Given the description of an element on the screen output the (x, y) to click on. 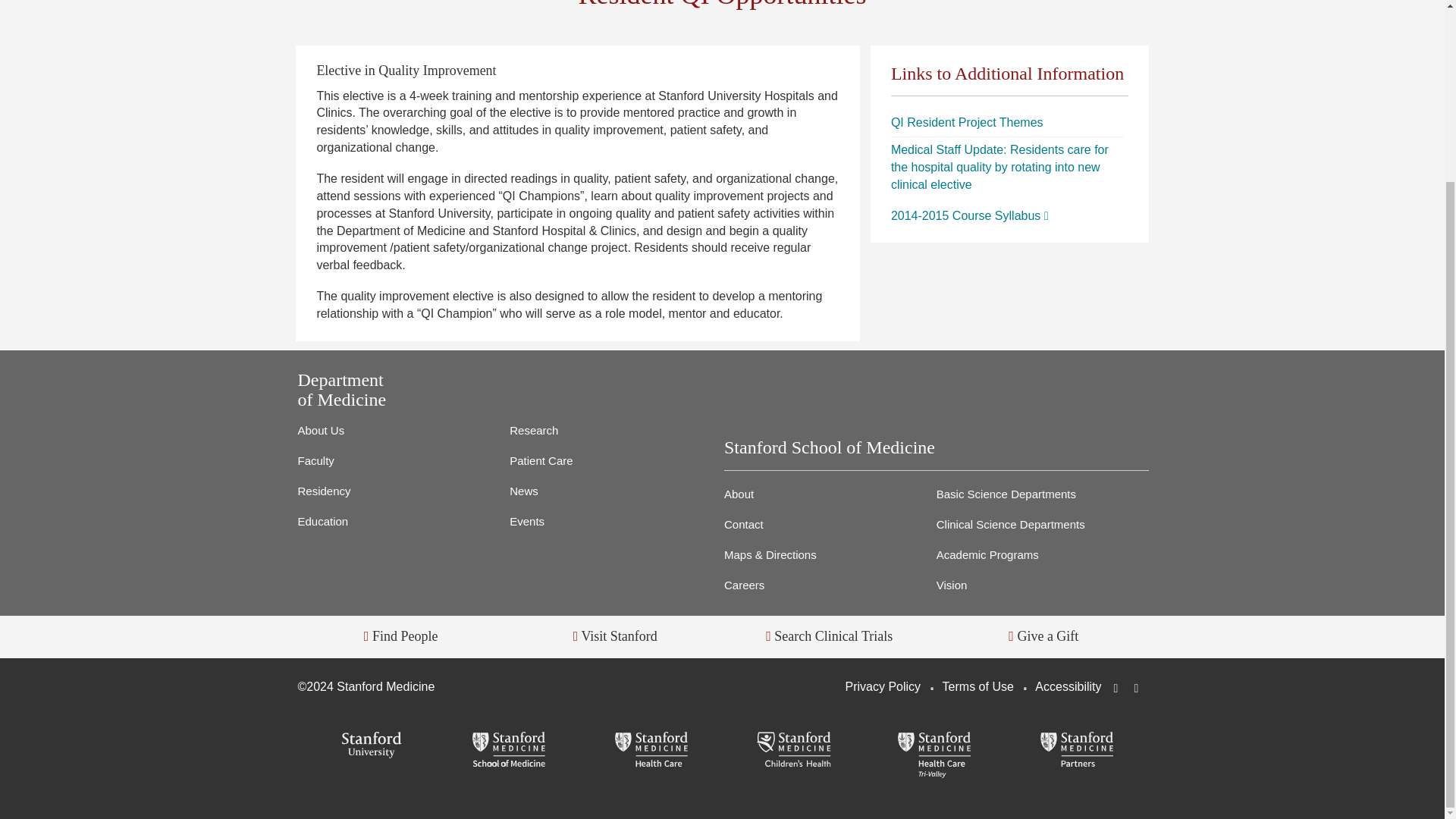
Stanford Health Care (650, 750)
Stanford Children's Health (793, 750)
Stanford University (368, 746)
Stanford Medicine Partners (1076, 750)
Stanford School of Medicine (509, 750)
Stanford Health Care Tri-Valley (934, 755)
